Given the description of an element on the screen output the (x, y) to click on. 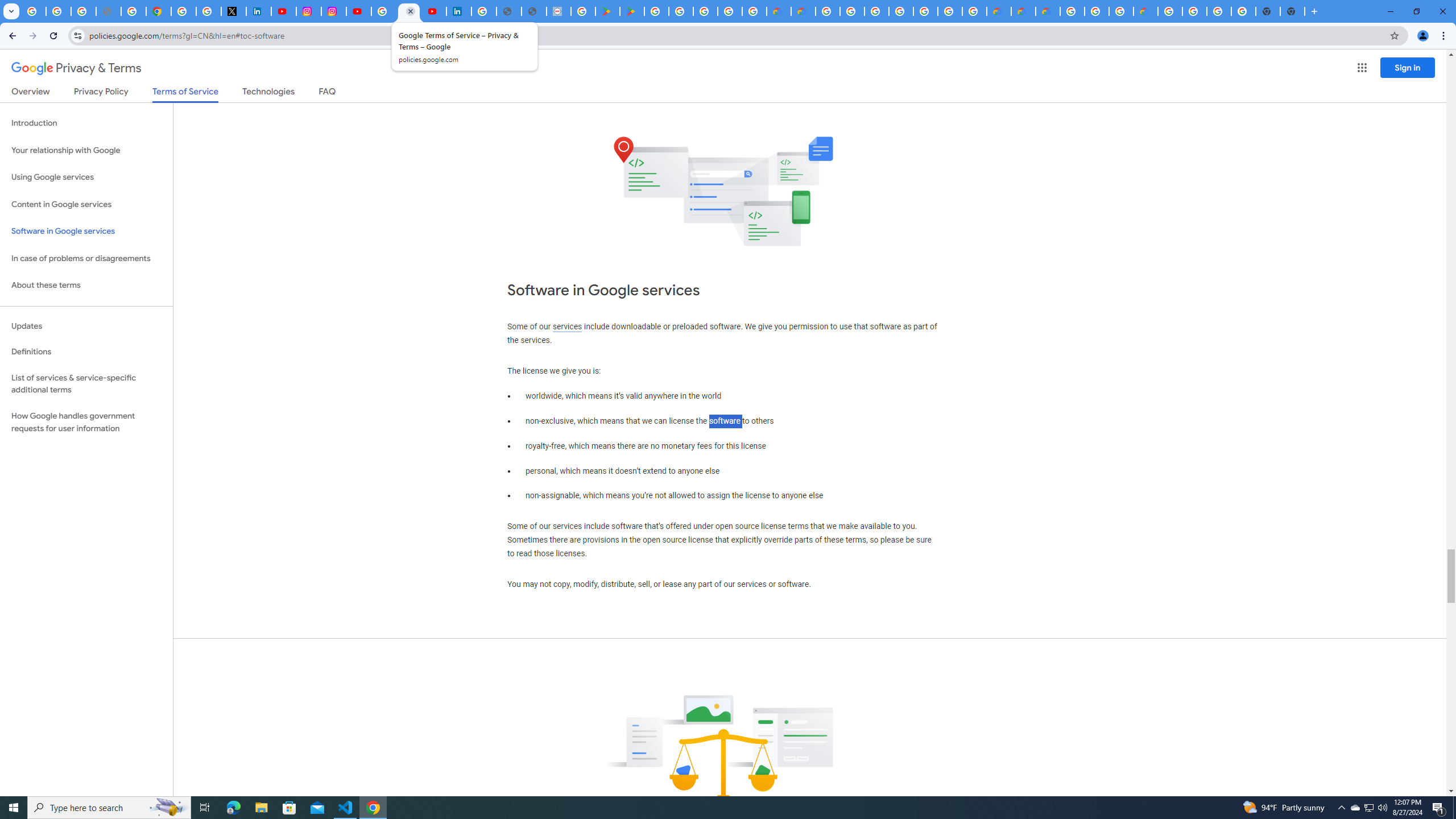
services (566, 326)
Google Cloud Platform (1072, 11)
Google Cloud Service Health (1145, 11)
Google Cloud Estimate Summary (1047, 11)
X (233, 11)
